Given the description of an element on the screen output the (x, y) to click on. 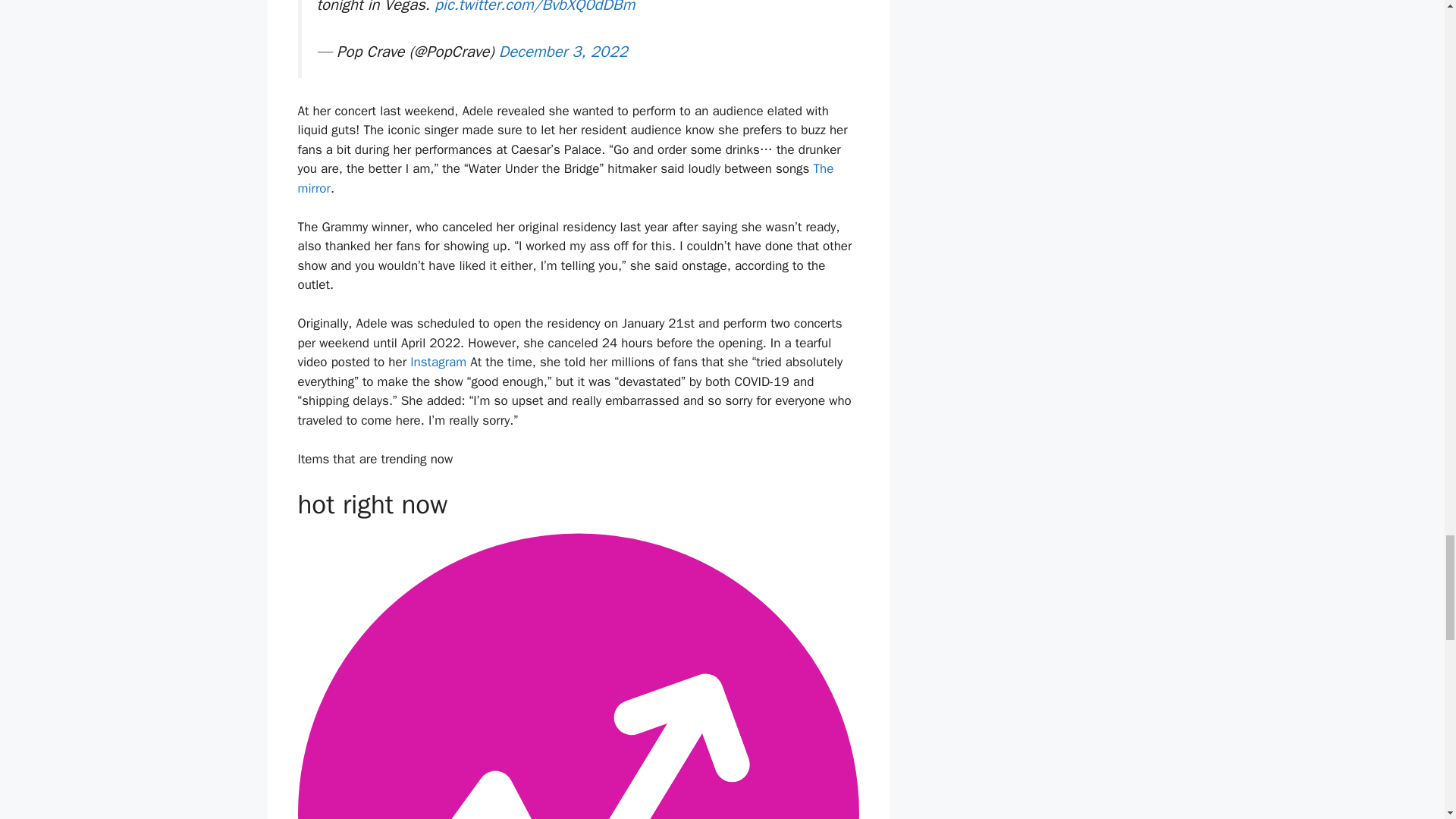
Instagram (437, 361)
December 3, 2022 (563, 51)
The mirror (564, 178)
